Given the description of an element on the screen output the (x, y) to click on. 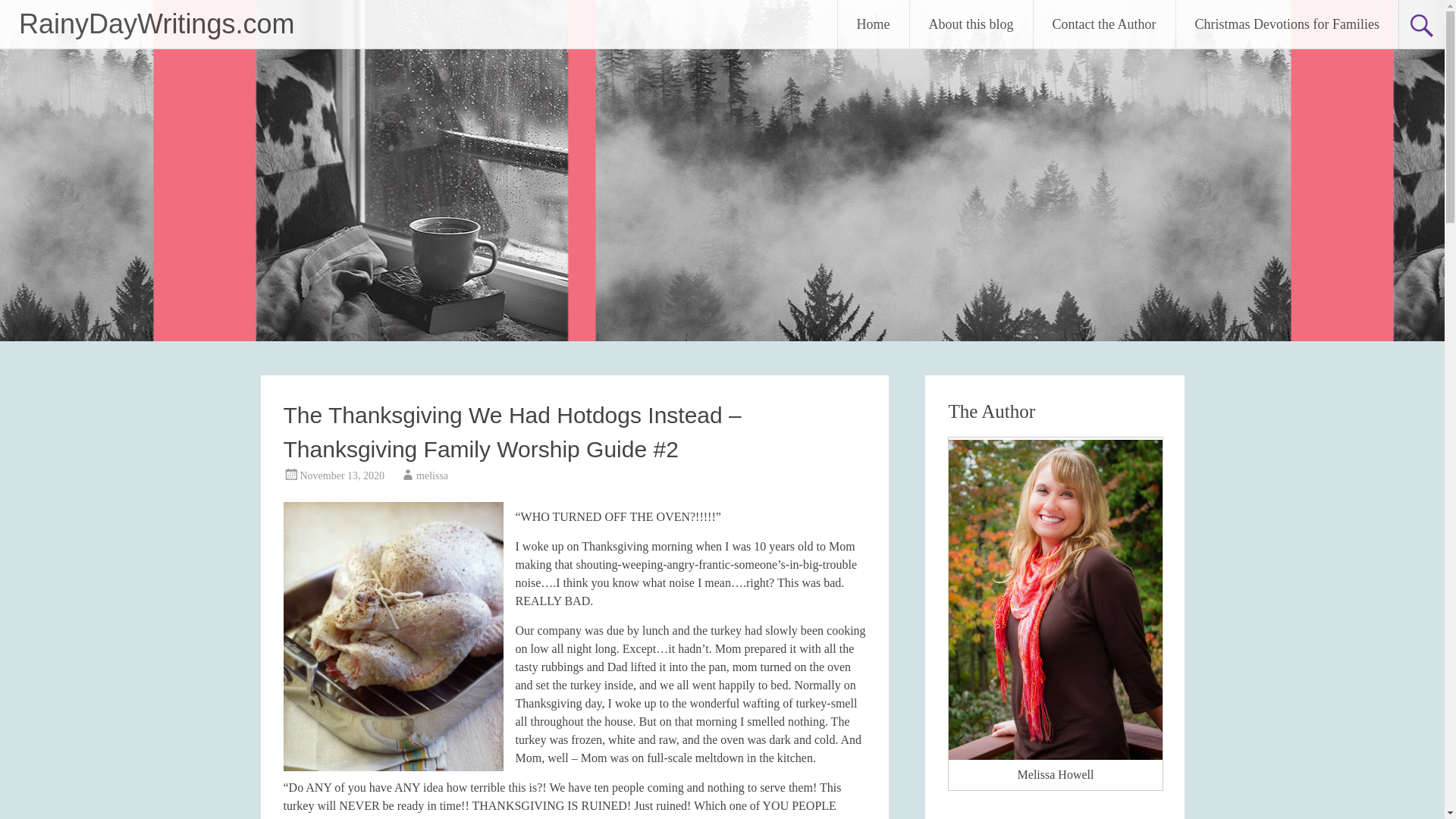
November 13, 2020 (342, 475)
melissa (432, 475)
RainyDayWritings.com (156, 23)
Search (26, 12)
Christmas Devotions for Families (1286, 24)
Contact the Author (1103, 24)
Home (873, 24)
RainyDayWritings.com (156, 23)
About this blog (971, 24)
